Given the description of an element on the screen output the (x, y) to click on. 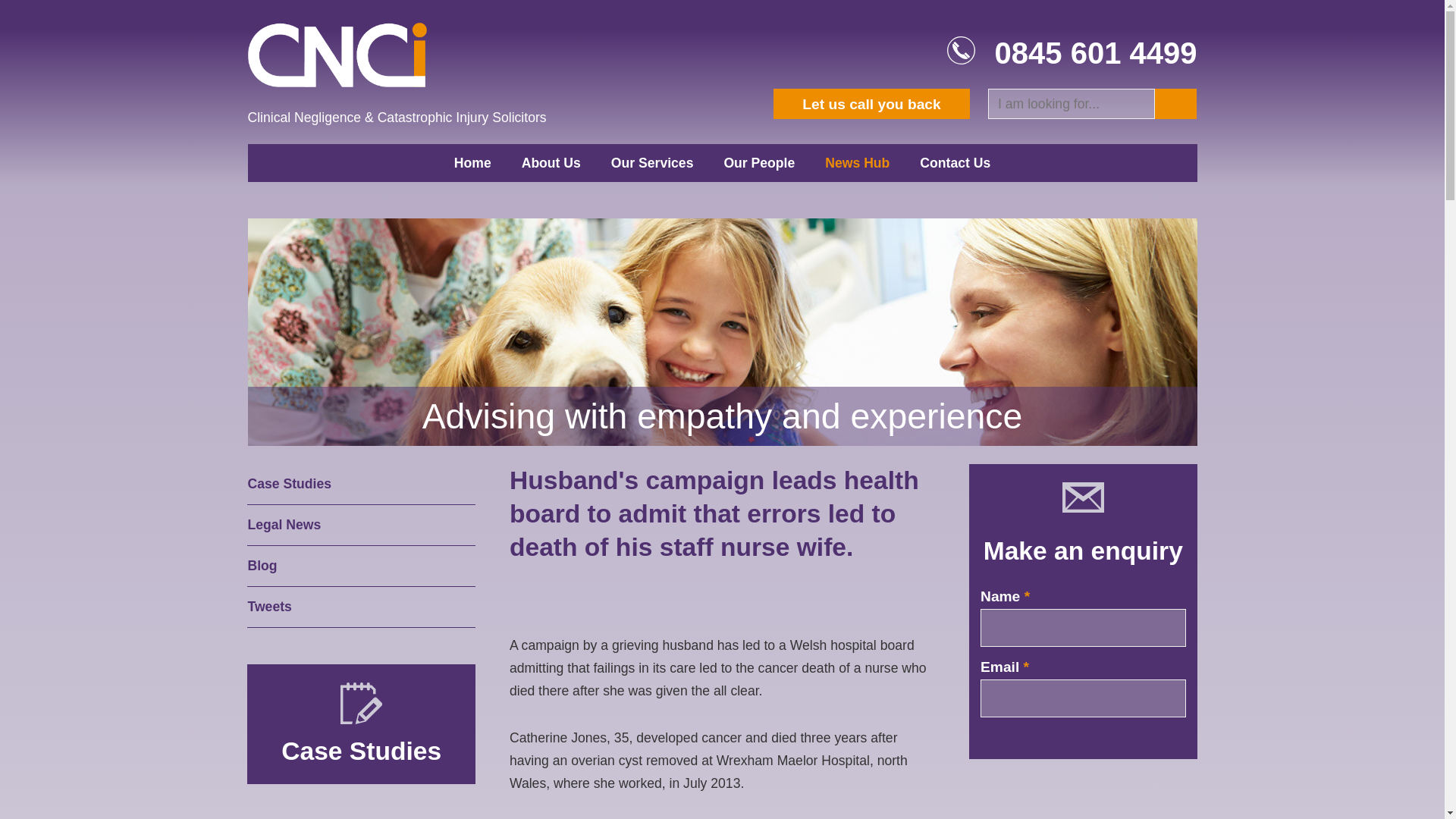
News Hub (856, 162)
Let us call you back (871, 103)
Tweets (360, 607)
Legal News (360, 525)
About Us (550, 162)
Home (472, 162)
Case Studies (361, 751)
Contact Us (955, 162)
Case Studies (360, 484)
Our Services (652, 162)
Make an enquiry (1083, 551)
Blog (360, 566)
Our People (758, 162)
0845 601 4499 (1095, 52)
